Given the description of an element on the screen output the (x, y) to click on. 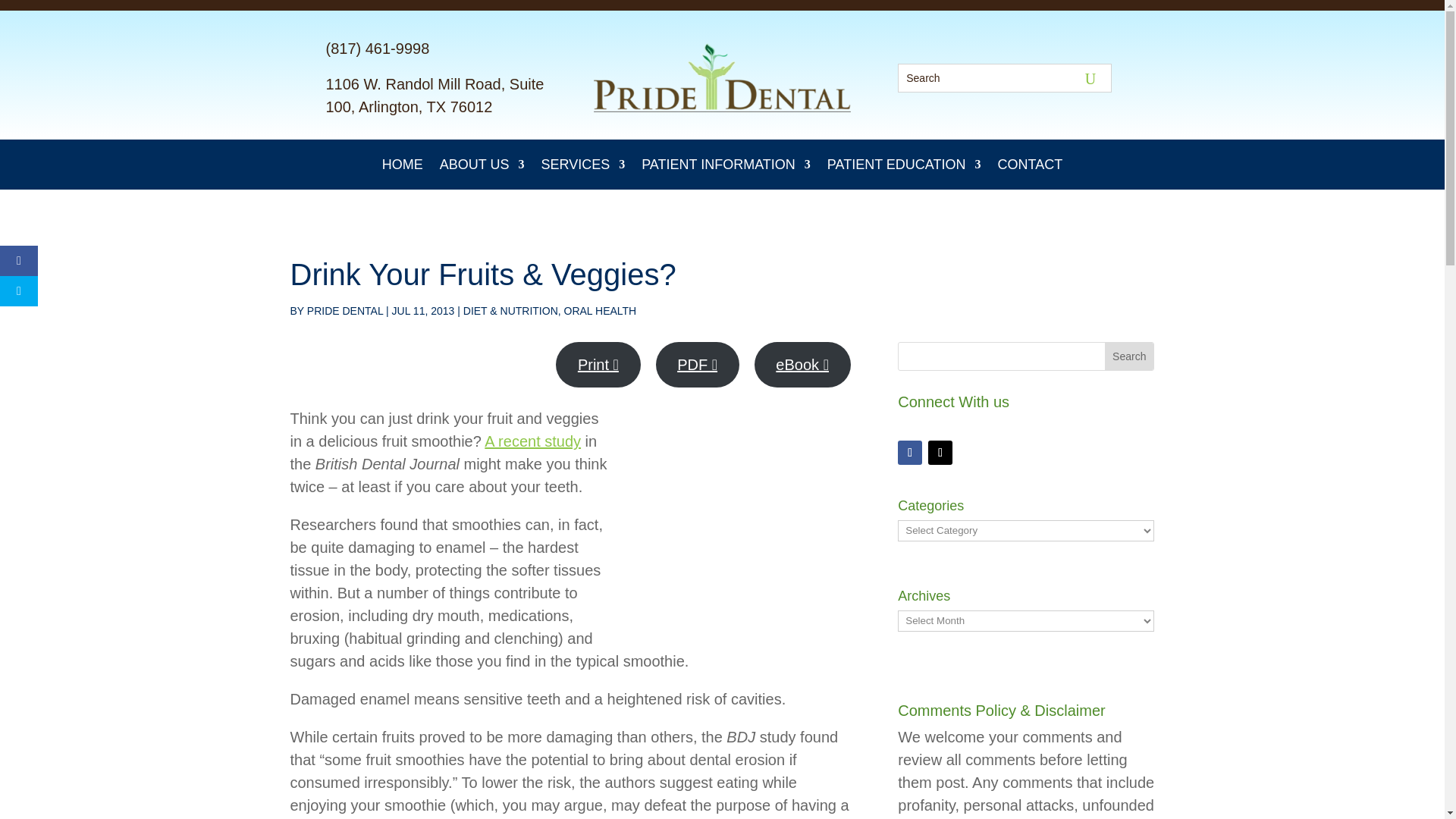
SERVICES (582, 167)
Posts by Pride Dental (344, 310)
Search (1129, 356)
Search (21, 13)
CONTACT (1029, 167)
logo (722, 77)
ABOUT US (481, 167)
Search (1129, 356)
HOME (402, 167)
PATIENT INFORMATION (726, 167)
PATIENT EDUCATION (904, 167)
Follow on Facebook (909, 452)
Follow on X (940, 452)
